Given the description of an element on the screen output the (x, y) to click on. 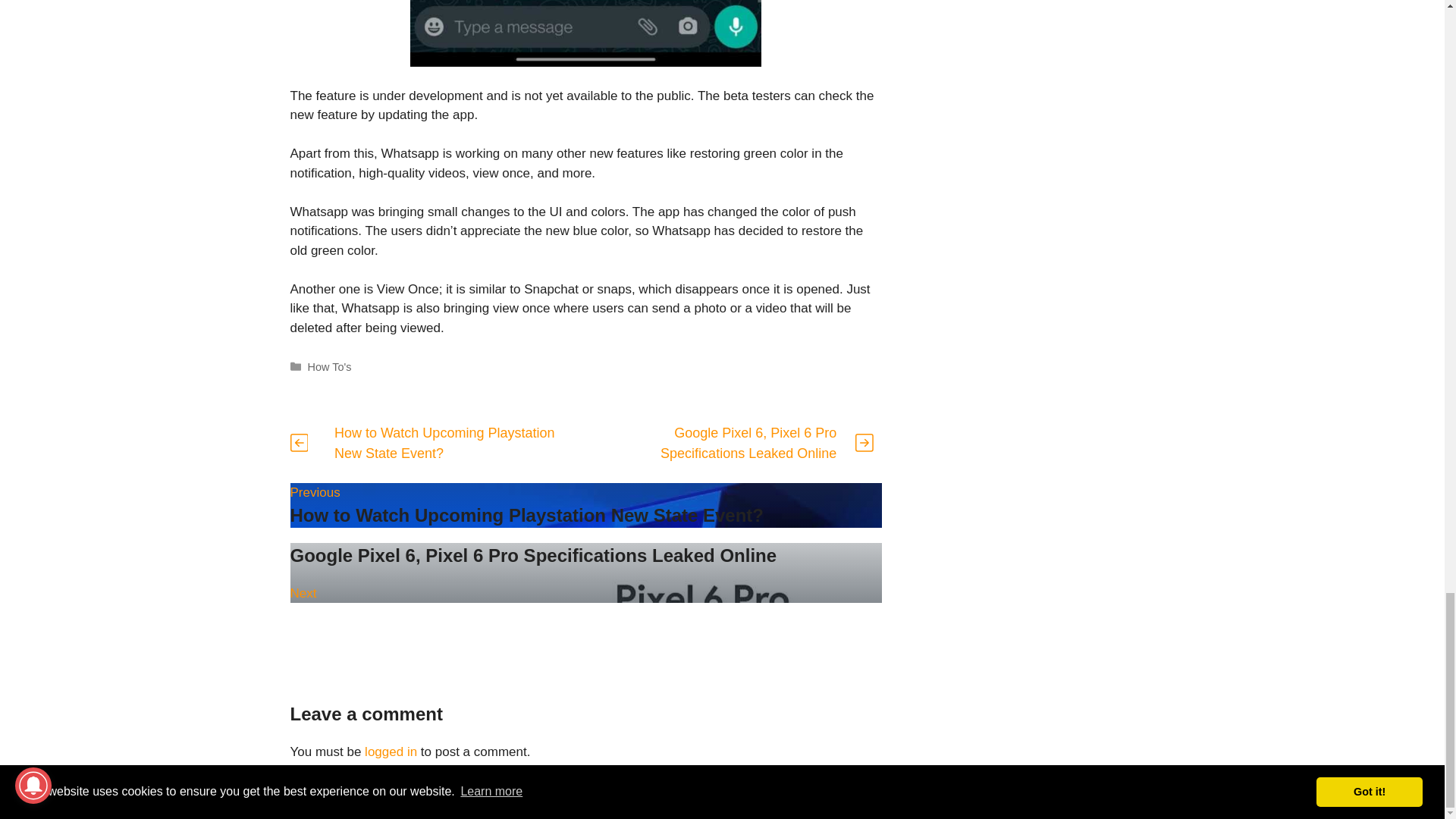
How to Watch Upcoming Playstation New State Event? (444, 443)
How To's (584, 505)
Google Pixel 6, Pixel 6 Pro Specifications Leaked Online (329, 367)
